Given the description of an element on the screen output the (x, y) to click on. 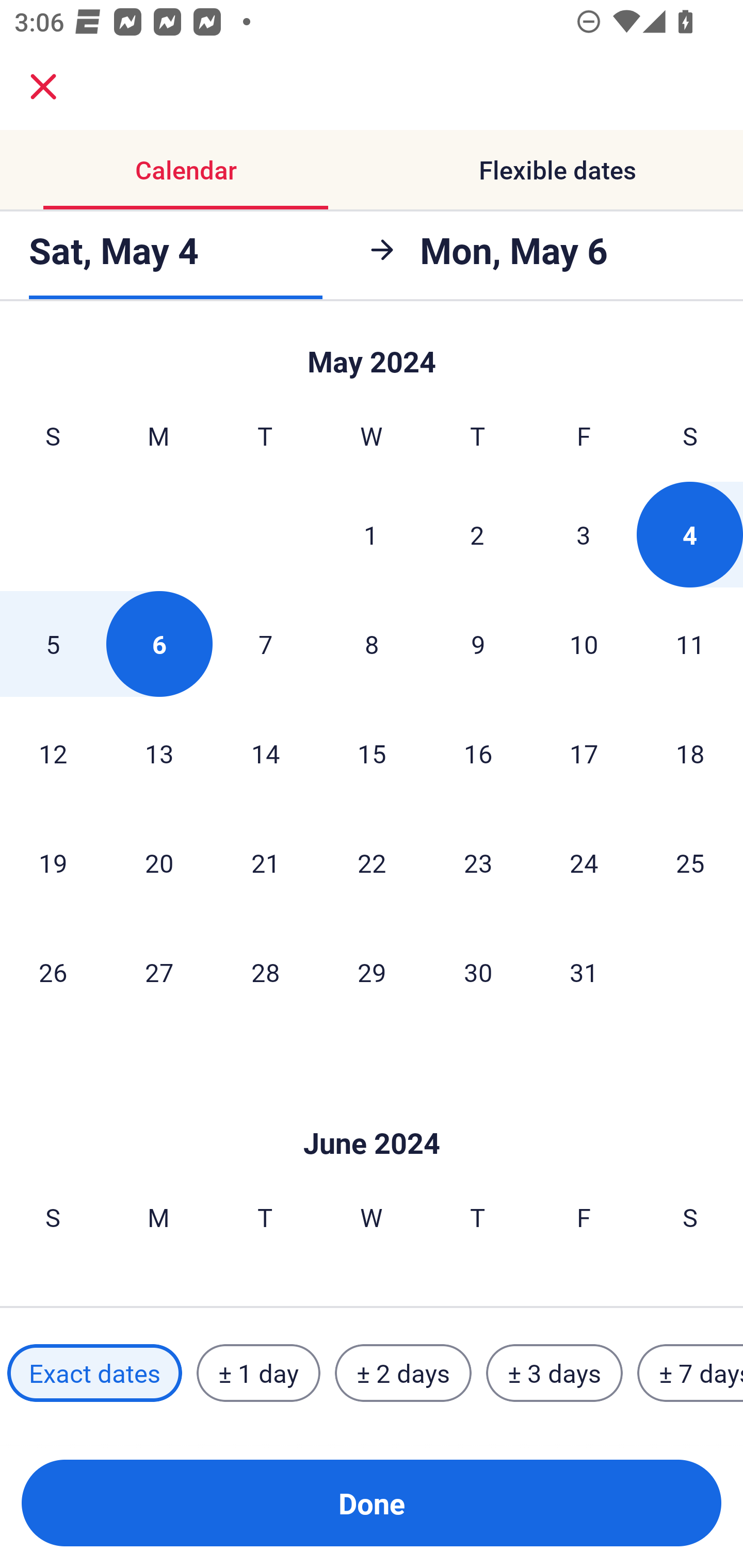
close. (43, 86)
Flexible dates (557, 170)
Skip to Done (371, 352)
1 Wednesday, May 1, 2024 (371, 534)
2 Thursday, May 2, 2024 (477, 534)
3 Friday, May 3, 2024 (583, 534)
7 Tuesday, May 7, 2024 (265, 643)
8 Wednesday, May 8, 2024 (371, 643)
9 Thursday, May 9, 2024 (477, 643)
10 Friday, May 10, 2024 (584, 643)
11 Saturday, May 11, 2024 (690, 643)
12 Sunday, May 12, 2024 (53, 752)
13 Monday, May 13, 2024 (159, 752)
14 Tuesday, May 14, 2024 (265, 752)
15 Wednesday, May 15, 2024 (371, 752)
16 Thursday, May 16, 2024 (477, 752)
17 Friday, May 17, 2024 (584, 752)
18 Saturday, May 18, 2024 (690, 752)
19 Sunday, May 19, 2024 (53, 862)
20 Monday, May 20, 2024 (159, 862)
21 Tuesday, May 21, 2024 (265, 862)
22 Wednesday, May 22, 2024 (371, 862)
23 Thursday, May 23, 2024 (477, 862)
24 Friday, May 24, 2024 (584, 862)
25 Saturday, May 25, 2024 (690, 862)
26 Sunday, May 26, 2024 (53, 971)
27 Monday, May 27, 2024 (159, 971)
28 Tuesday, May 28, 2024 (265, 971)
29 Wednesday, May 29, 2024 (371, 971)
30 Thursday, May 30, 2024 (477, 971)
31 Friday, May 31, 2024 (584, 971)
Skip to Done (371, 1112)
Exact dates (94, 1372)
± 1 day (258, 1372)
± 2 days (403, 1372)
± 3 days (553, 1372)
± 7 days (690, 1372)
Done (371, 1502)
